Given the description of an element on the screen output the (x, y) to click on. 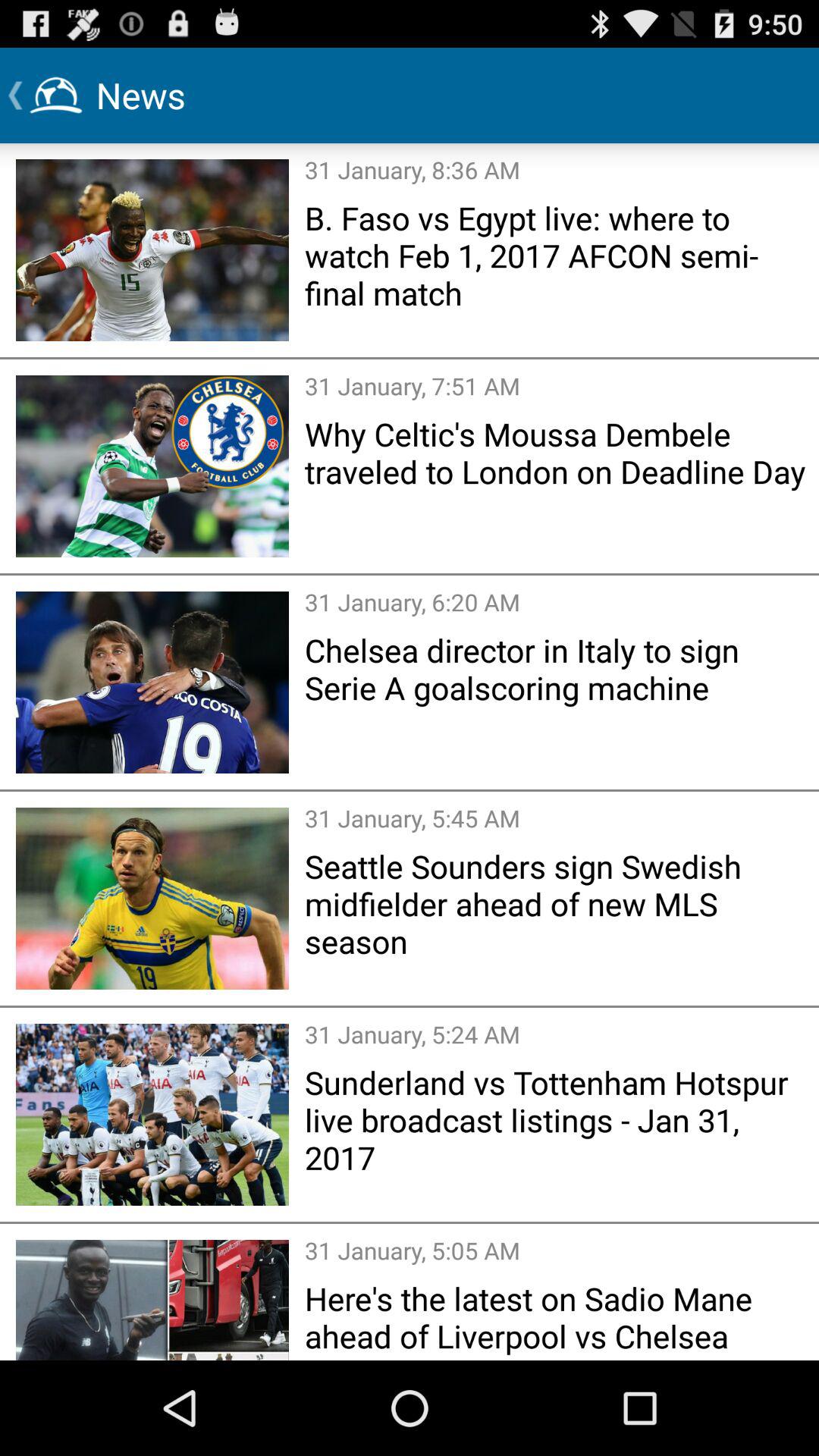
jump to the b faso vs item (556, 255)
